Given the description of an element on the screen output the (x, y) to click on. 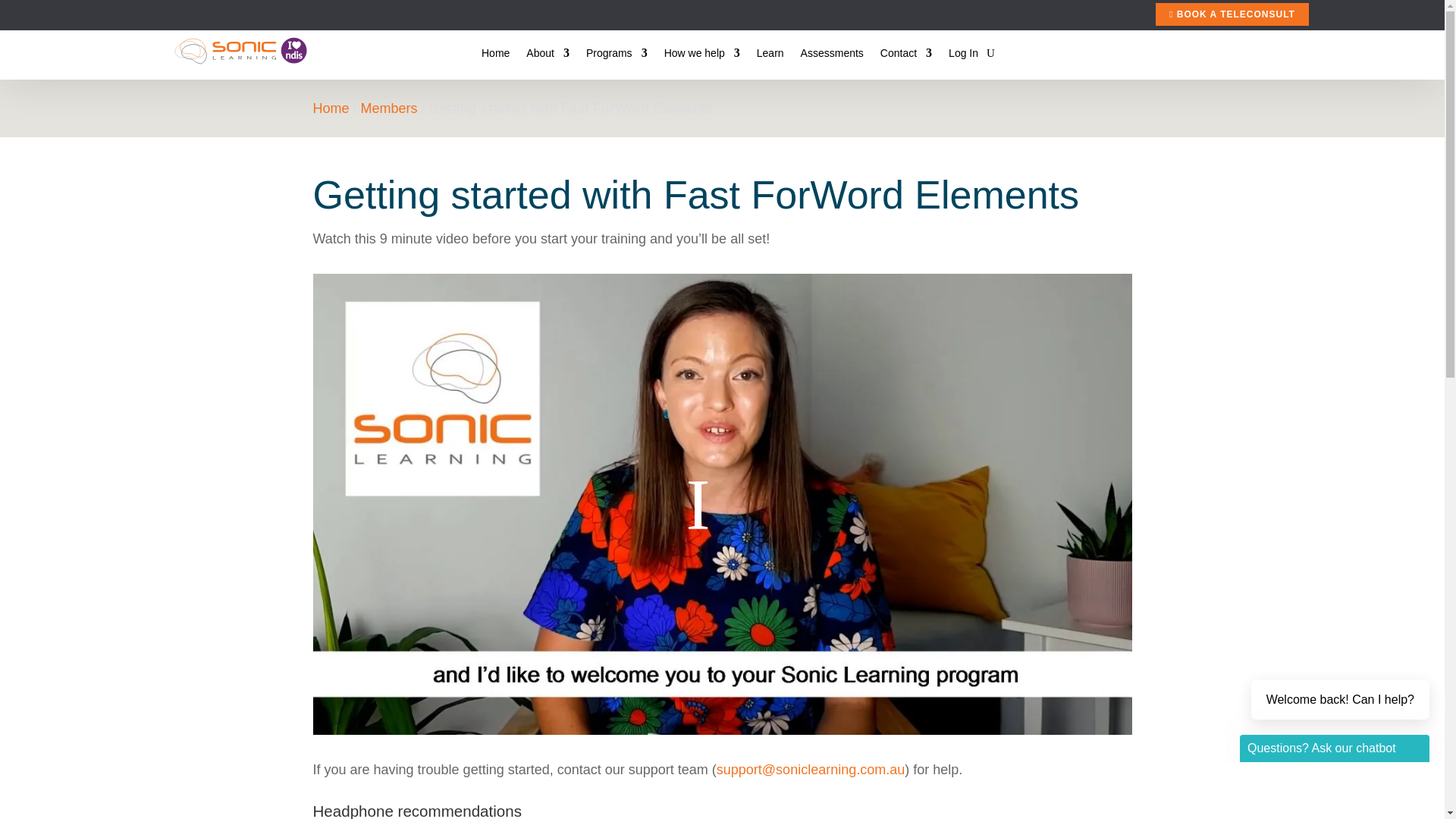
Home (495, 55)
Log In (963, 55)
soniclearning LOGO full horizontal with NDIS - full colour 2 (240, 50)
Learn (770, 55)
How we help (701, 55)
Contact (905, 55)
Assessments (831, 55)
Programs (616, 55)
About (547, 55)
